Given the description of an element on the screen output the (x, y) to click on. 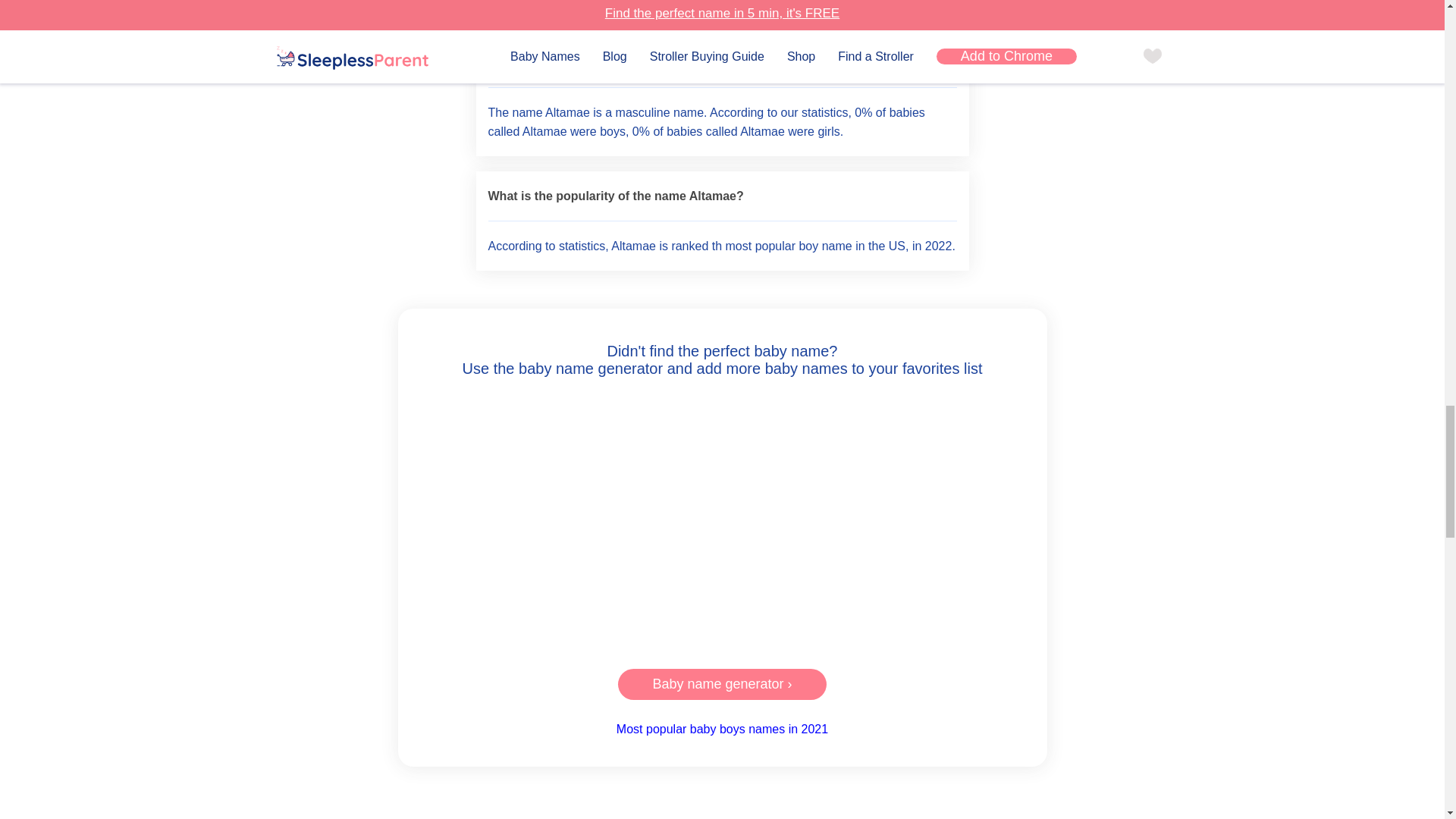
Most popular baby boys names in 2021 (721, 728)
YouTube video player (721, 519)
